Given the description of an element on the screen output the (x, y) to click on. 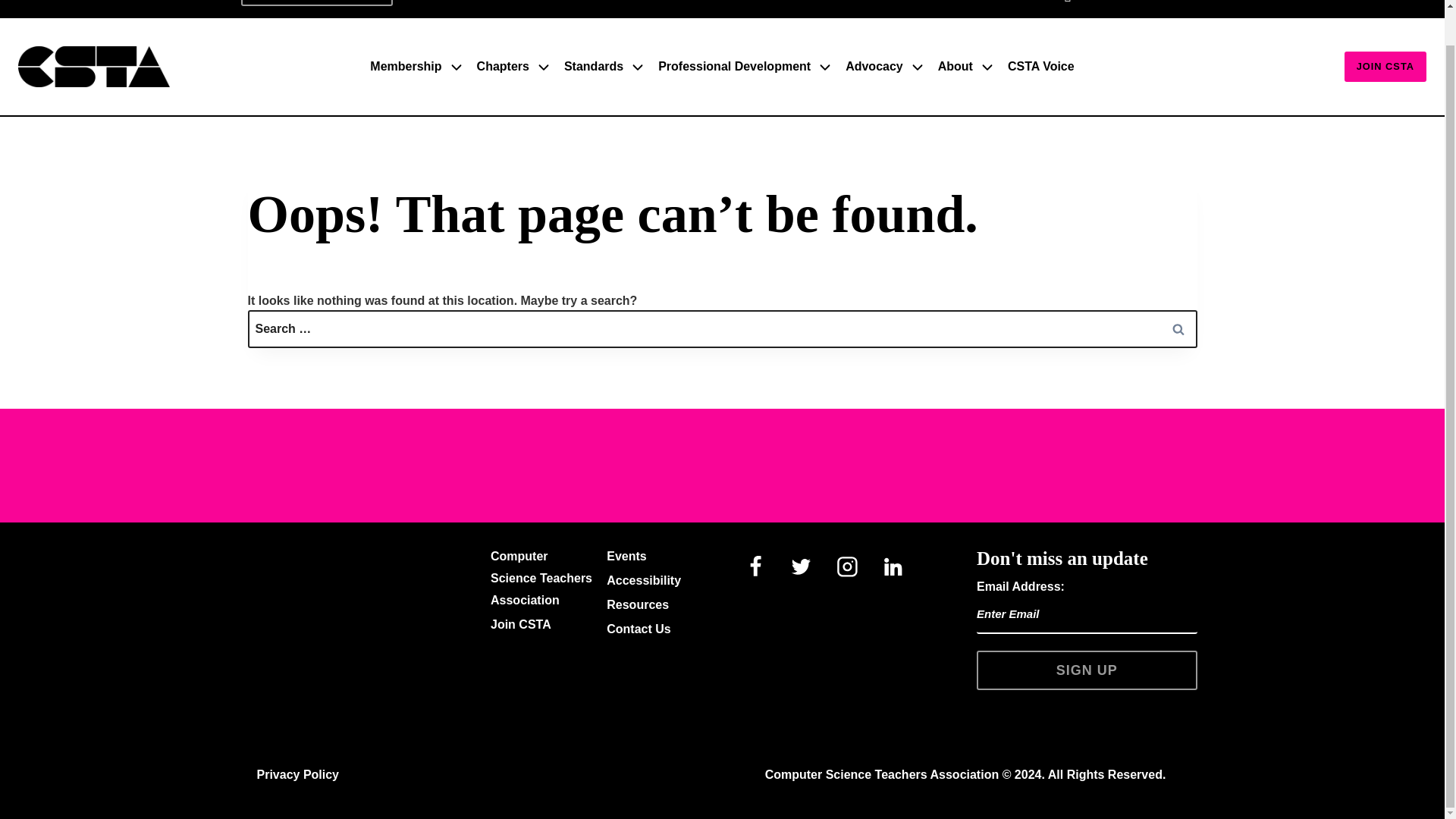
Search (374, 2)
Standards (604, 65)
Membership (417, 65)
Professional Development (746, 65)
Search (374, 2)
Login (1125, 2)
Search (374, 2)
Search (1177, 328)
Search (1177, 328)
Chapters (513, 65)
